Given the description of an element on the screen output the (x, y) to click on. 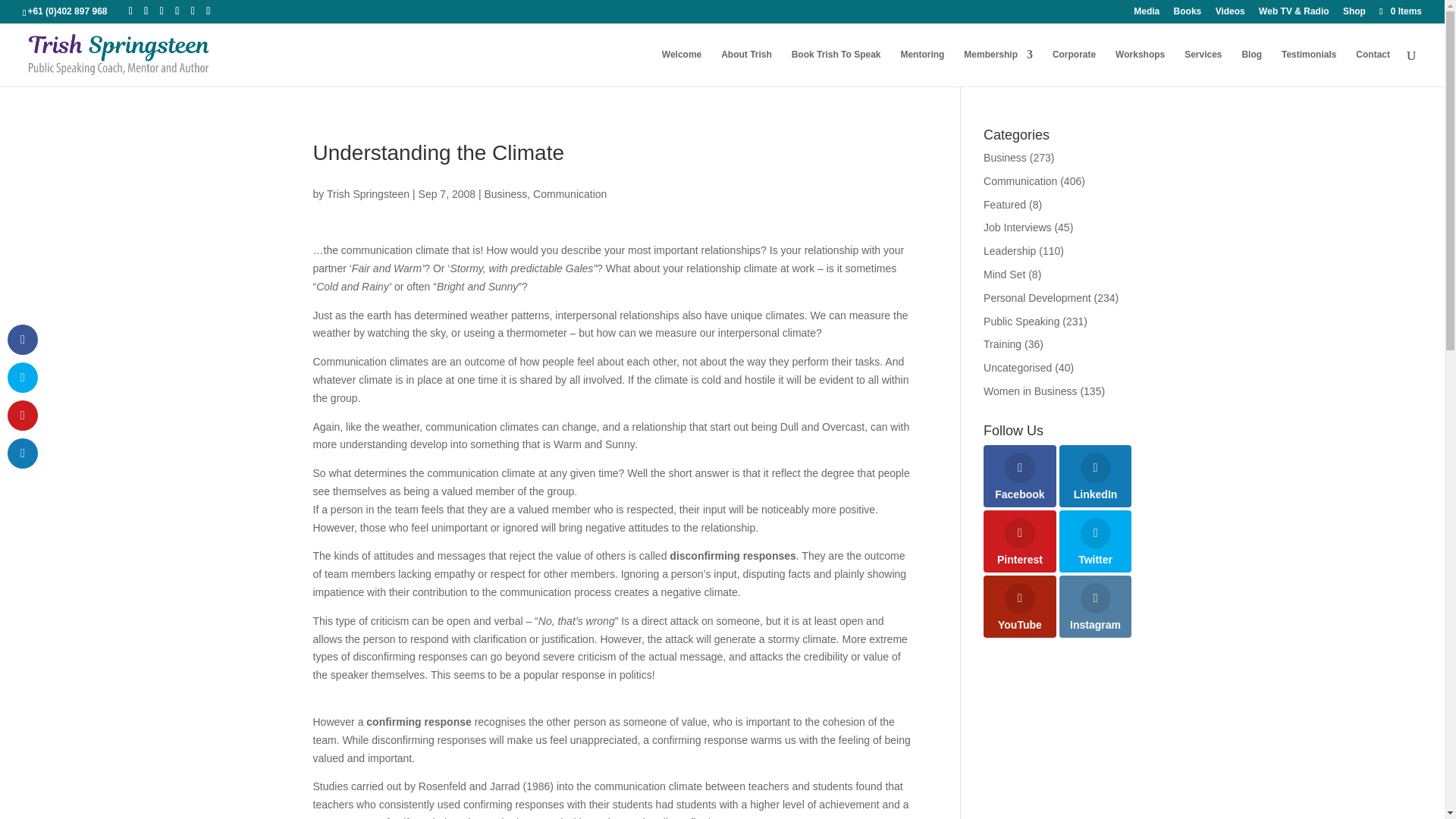
About Trish (745, 67)
Services (1203, 67)
Contact (1372, 67)
Shop (1353, 14)
Posts by Trish Springsteen (367, 193)
Mentoring (921, 67)
Workshops (1139, 67)
Corporate (1074, 67)
Media (1146, 14)
Videos (1229, 14)
